Given the description of an element on the screen output the (x, y) to click on. 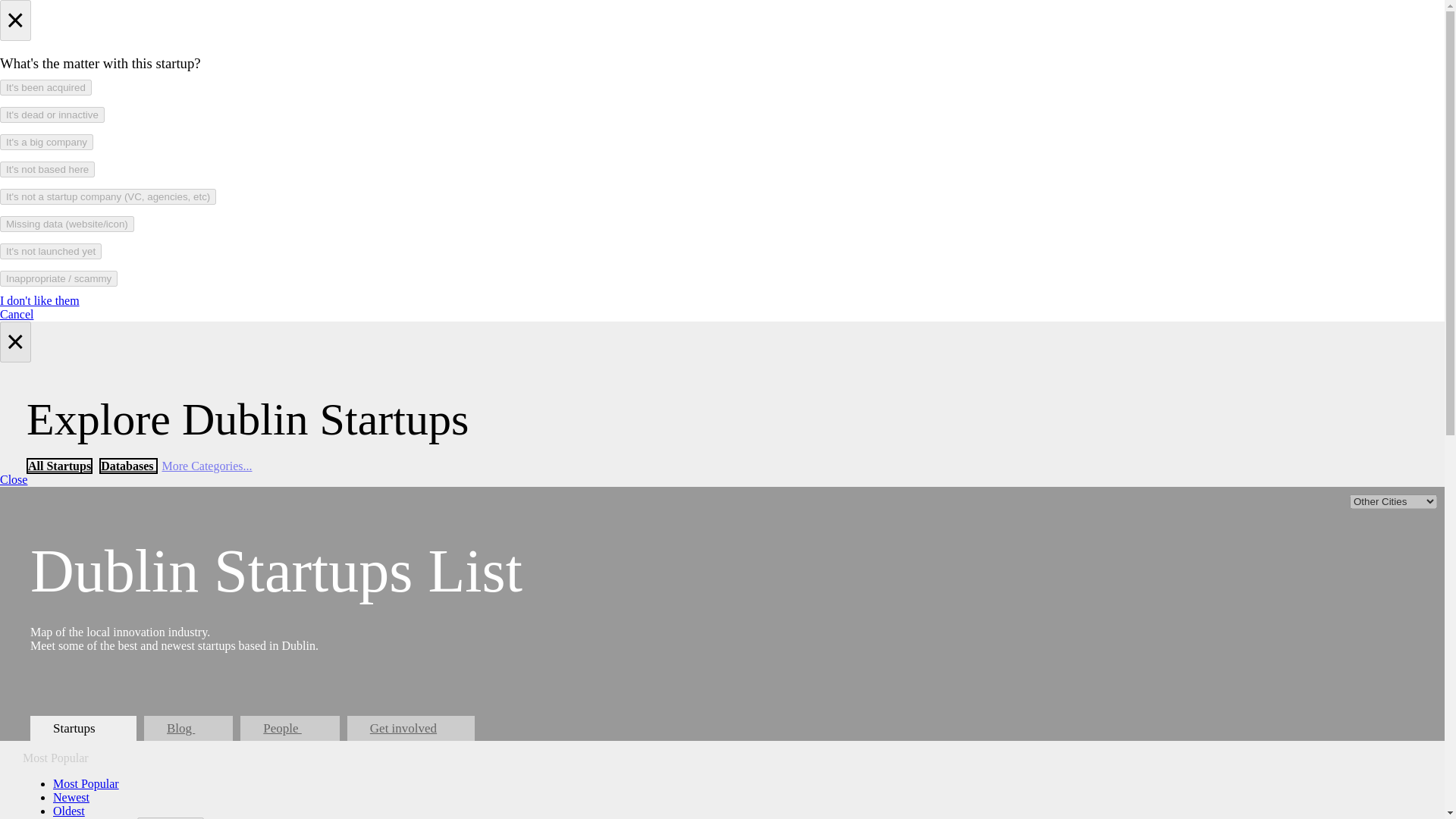
It's dead or innactive (52, 114)
It's not launched yet (50, 251)
It's not based here (47, 169)
More Categories... (206, 465)
Close (13, 479)
Databases (128, 465)
All Startups (59, 465)
Cancel (16, 314)
It's a big company (46, 141)
I don't like them (40, 300)
It's been acquired (45, 87)
